Given the description of an element on the screen output the (x, y) to click on. 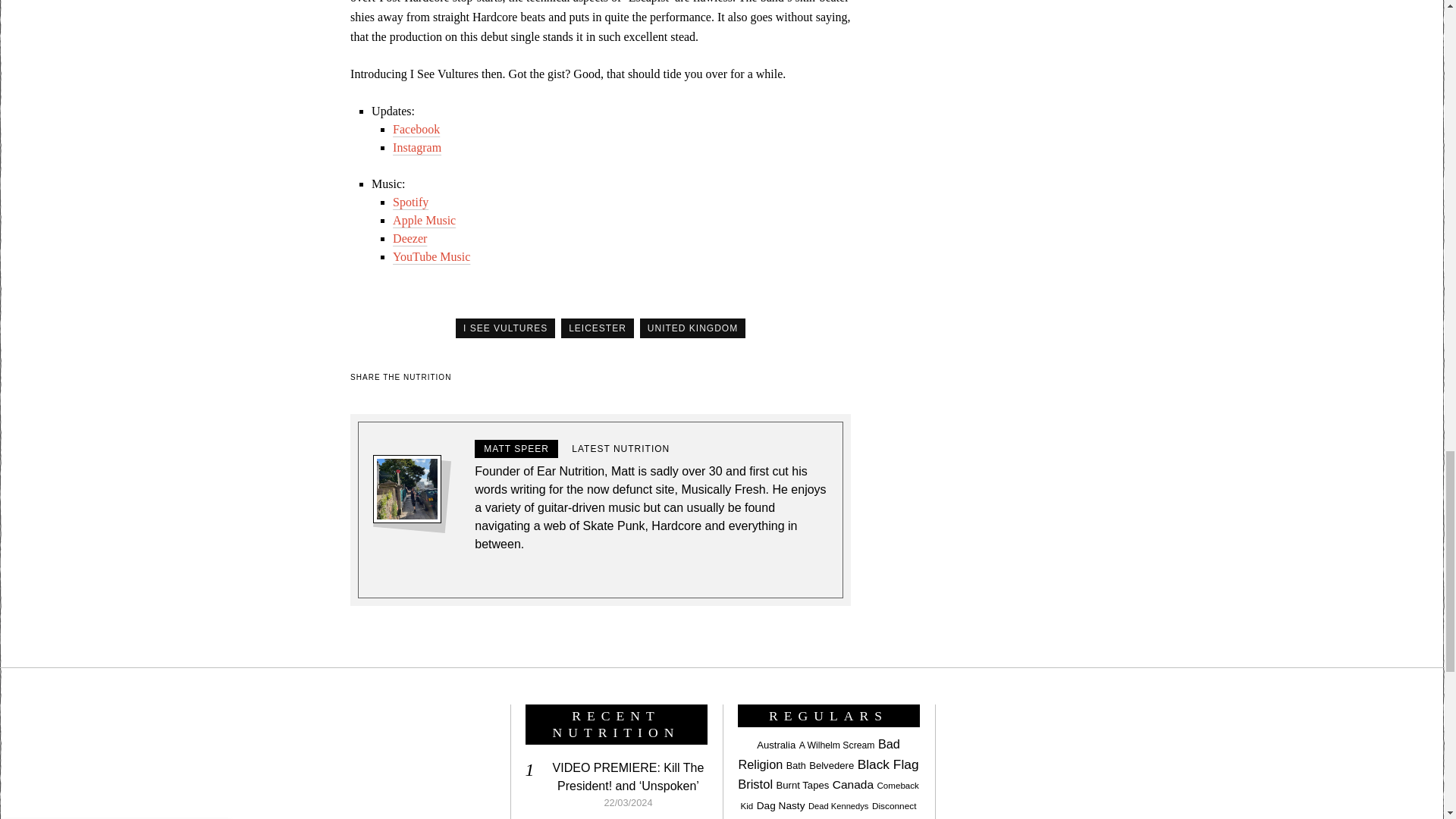
Deezer (409, 237)
UNITED KINGDOM (692, 328)
LEICESTER (596, 328)
LATEST NUTRITION (620, 448)
Facebook (416, 128)
YouTube Music (431, 256)
Apple Music (424, 219)
Instagram (417, 146)
MATT SPEER (515, 448)
Spotify (410, 201)
I SEE VULTURES (504, 328)
